Given the description of an element on the screen output the (x, y) to click on. 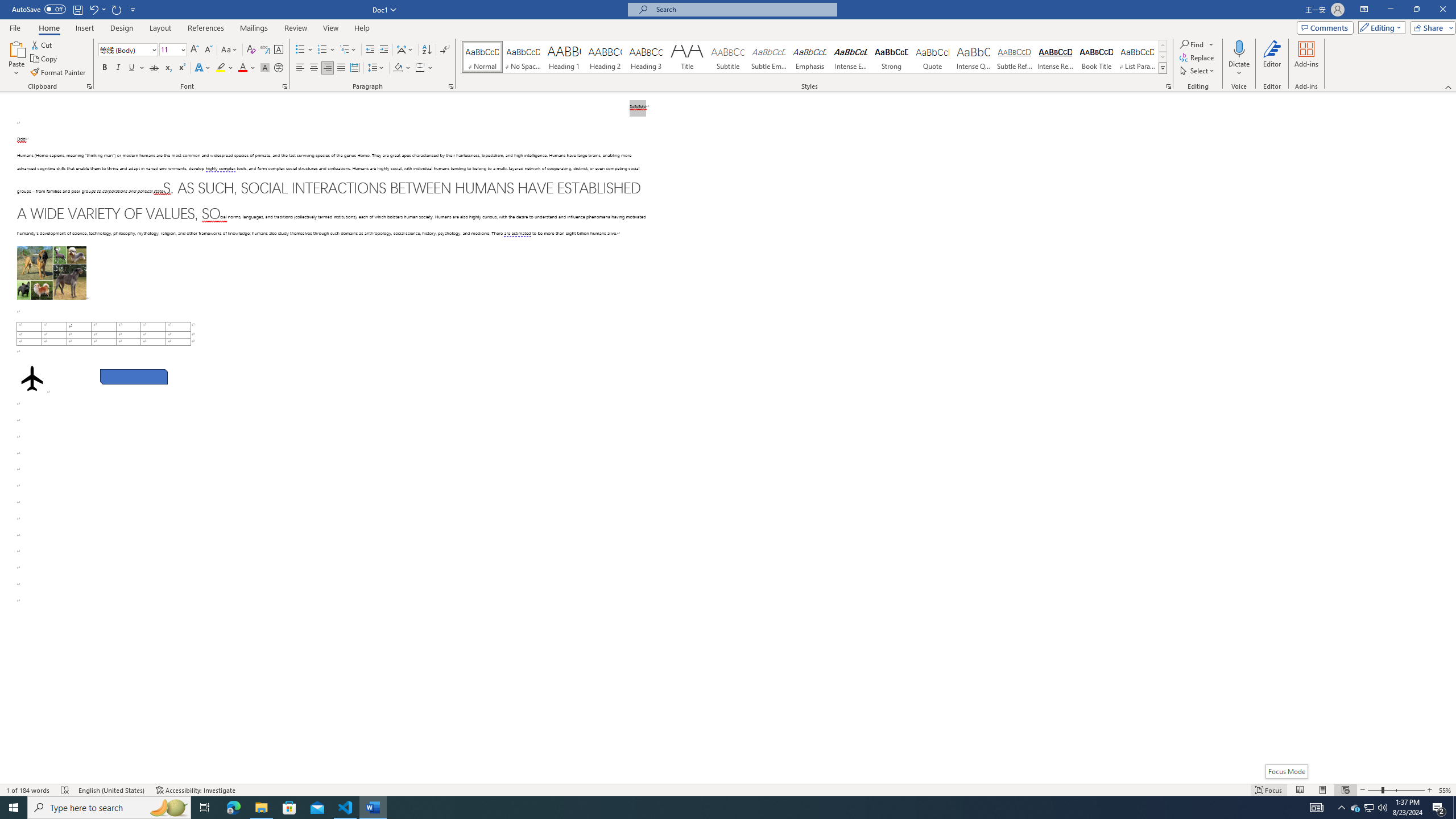
Airplane with solid fill (31, 378)
